Given the description of an element on the screen output the (x, y) to click on. 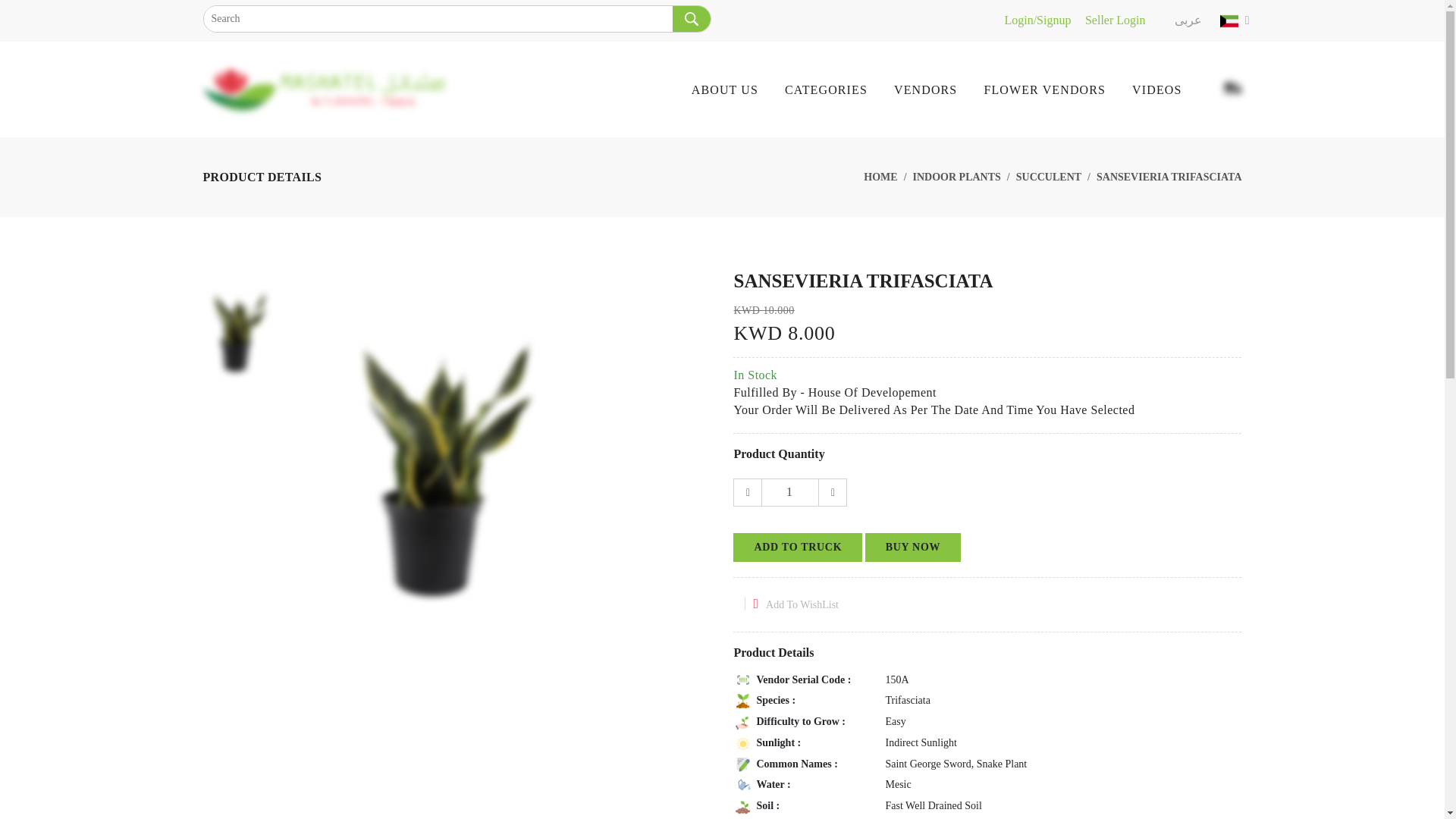
1 (789, 492)
CATEGORIES (838, 89)
ABOUT US (737, 89)
Seller Login (1114, 19)
